Given the description of an element on the screen output the (x, y) to click on. 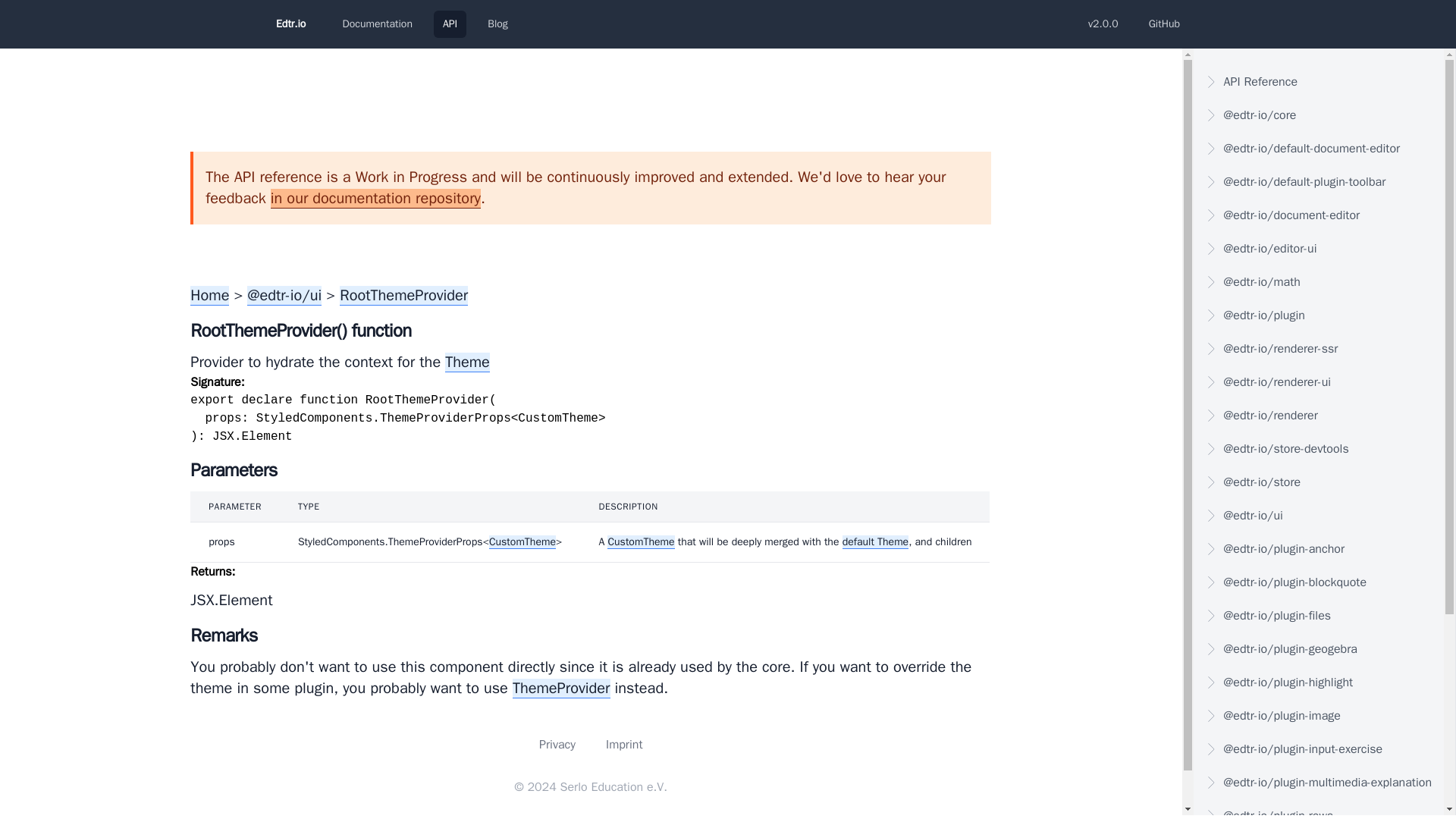
default Theme (875, 541)
Imprint (624, 744)
Privacy (556, 744)
API (449, 23)
Blog (497, 23)
GitHub (1164, 23)
CustomTheme (640, 541)
in our documentation repository (375, 198)
ThemeProvider (561, 688)
Theme (467, 362)
RootThemeProvider (403, 295)
Documentation (377, 23)
Home (209, 295)
CustomTheme (522, 541)
API Reference (1318, 81)
